Given the description of an element on the screen output the (x, y) to click on. 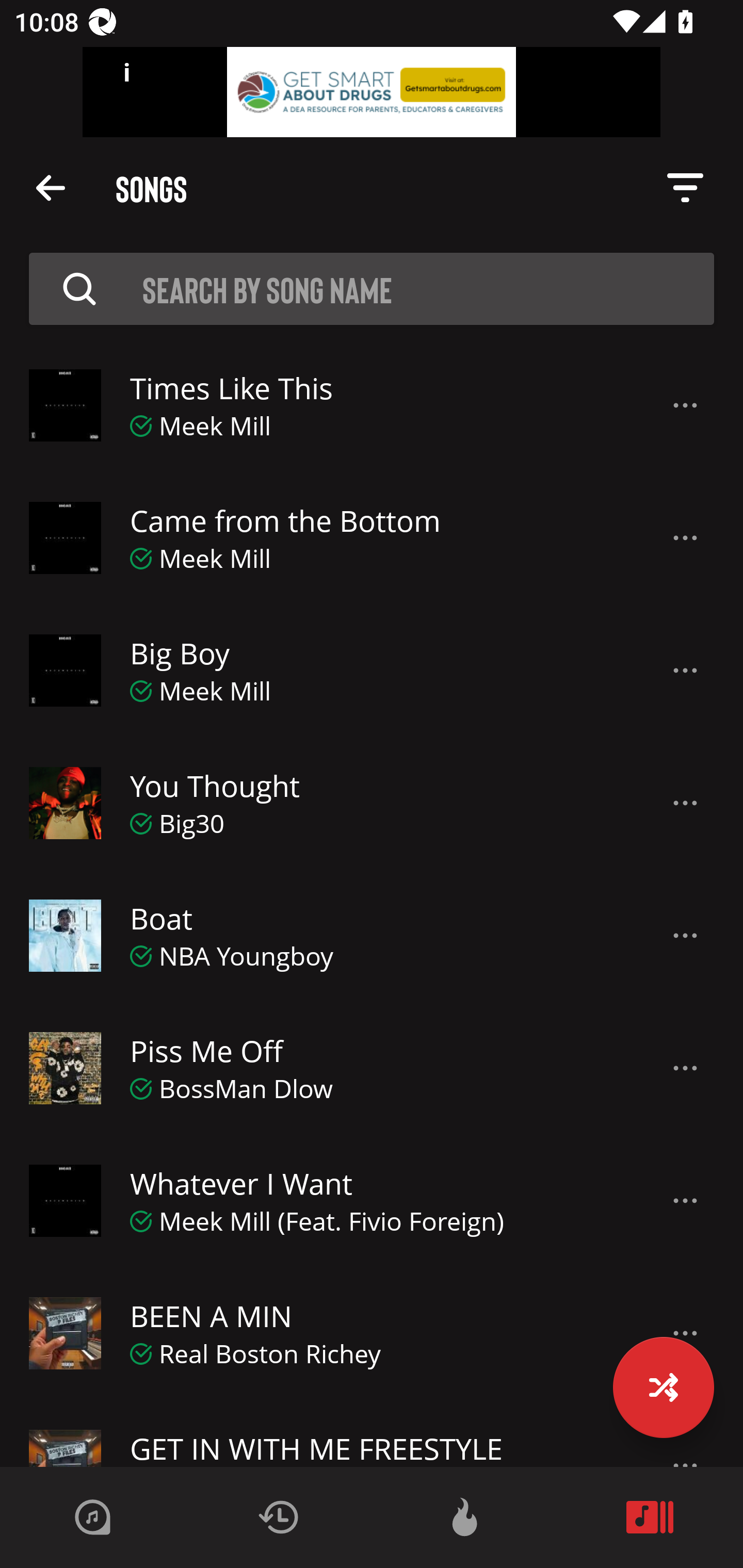
Description (50, 187)
Description (684, 188)
Search by song name (428, 288)
Description (79, 288)
Description (685, 405)
Description (685, 538)
Description (685, 670)
Description (685, 803)
Description (685, 935)
Description (685, 1068)
Description (685, 1201)
